Given the description of an element on the screen output the (x, y) to click on. 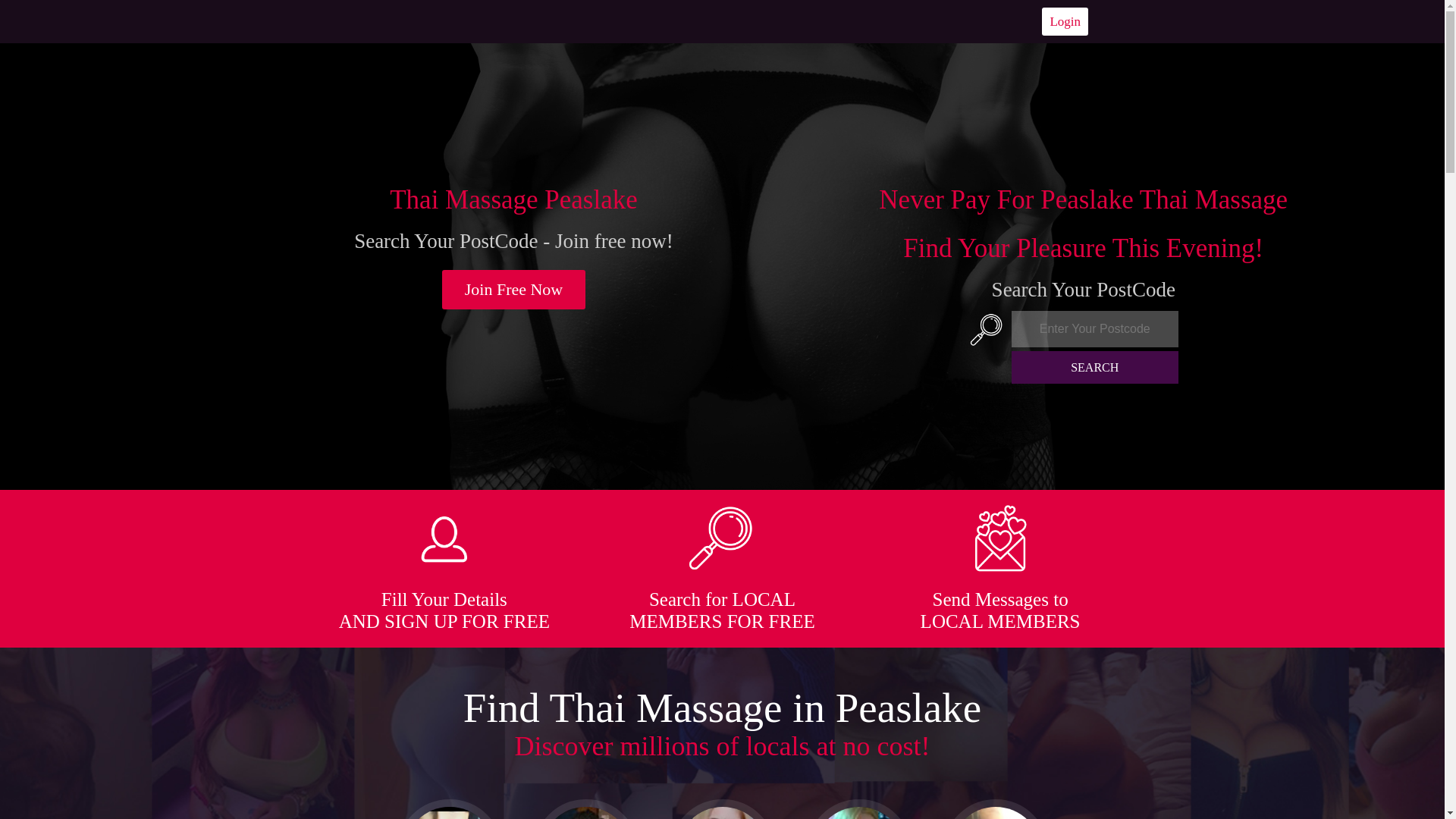
Join Free Now (514, 289)
Login (1064, 21)
Login (1064, 21)
SEARCH (1094, 367)
Join (514, 289)
